Given the description of an element on the screen output the (x, y) to click on. 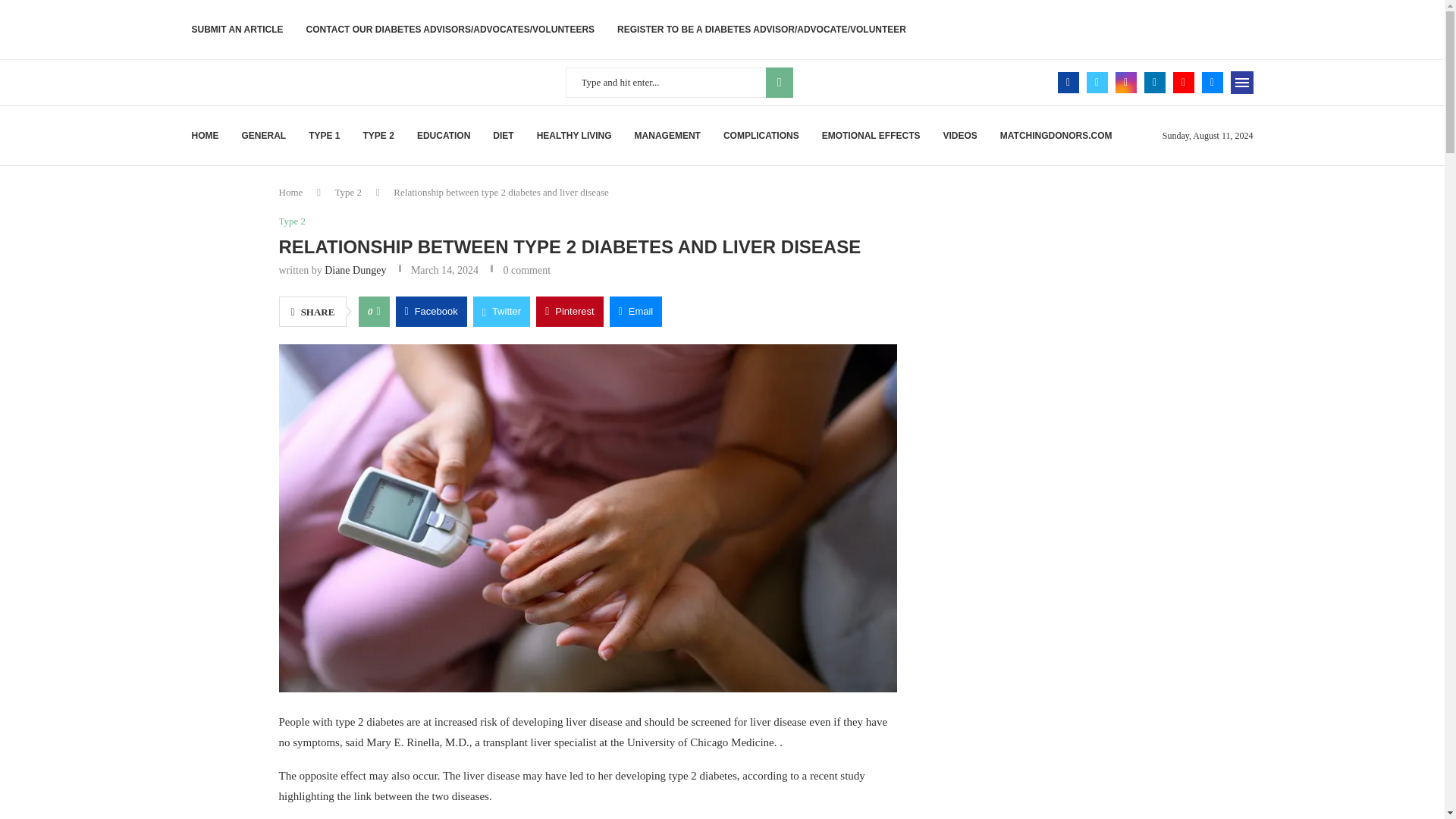
HEALTHY LIVING (574, 135)
COMPLICATIONS (761, 135)
EDUCATION (443, 135)
MATCHINGDONORS.COM (1056, 135)
GENERAL (263, 135)
SEARCH (779, 82)
EMOTIONAL EFFECTS (871, 135)
SUBMIT AN ARTICLE (236, 29)
MANAGEMENT (667, 135)
